Given the description of an element on the screen output the (x, y) to click on. 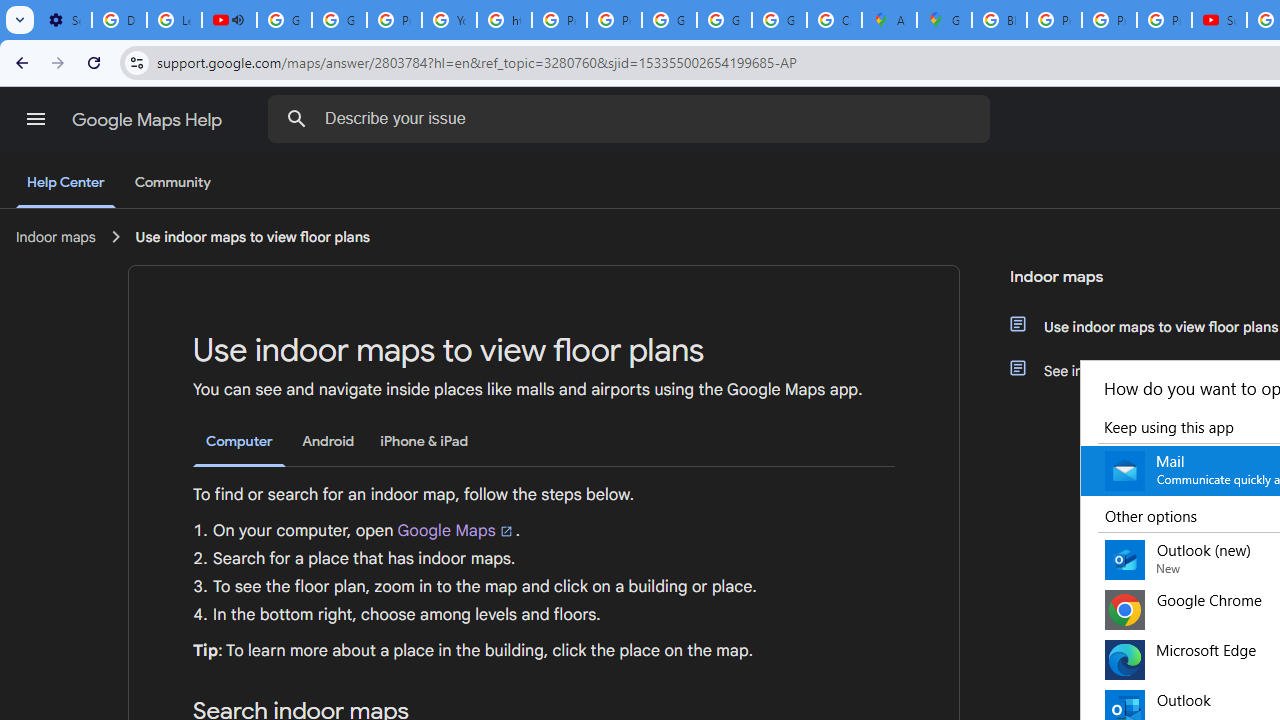
Computer (239, 442)
Privacy Help Center - Policies Help (1053, 20)
Google Maps (943, 20)
Indoor maps (55, 237)
Privacy Help Center - Policies Help (559, 20)
Subscriptions - YouTube (1218, 20)
YouTube (449, 20)
Delete photos & videos - Computer - Google Photos Help (119, 20)
iPhone & iPad (424, 441)
